Given the description of an element on the screen output the (x, y) to click on. 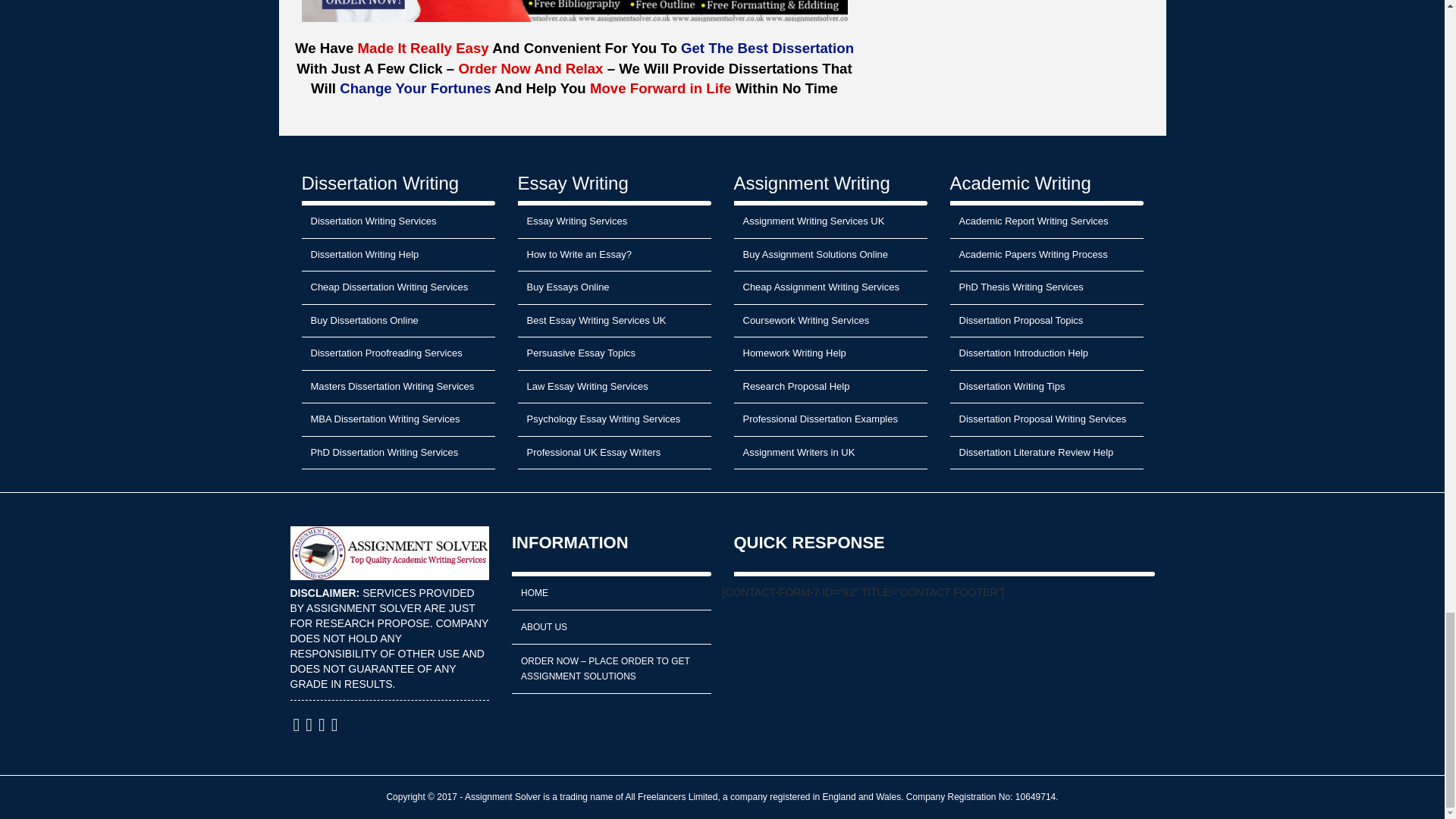
Dissertation Writing Services (398, 222)
Law Essay Writing Services (613, 387)
Cheap Dissertation Writing Services (398, 287)
Psychology Essay Writing Services (613, 419)
Best Essay Writing Services UK (613, 321)
Dissertation Proofreading Services (398, 354)
Cheap Dissertation Writing Services (398, 287)
Masters Dissertation Writing Services (398, 387)
MBA Dissertation Writing Services (398, 419)
PhD Dissertation Writing Services (398, 453)
Persuasive Essay Topics Help (613, 354)
Law Essay Writing Services (613, 387)
How to Write an Essay? (613, 255)
Buy Essays Online (613, 287)
How to Write an Essay? (613, 255)
